Given the description of an element on the screen output the (x, y) to click on. 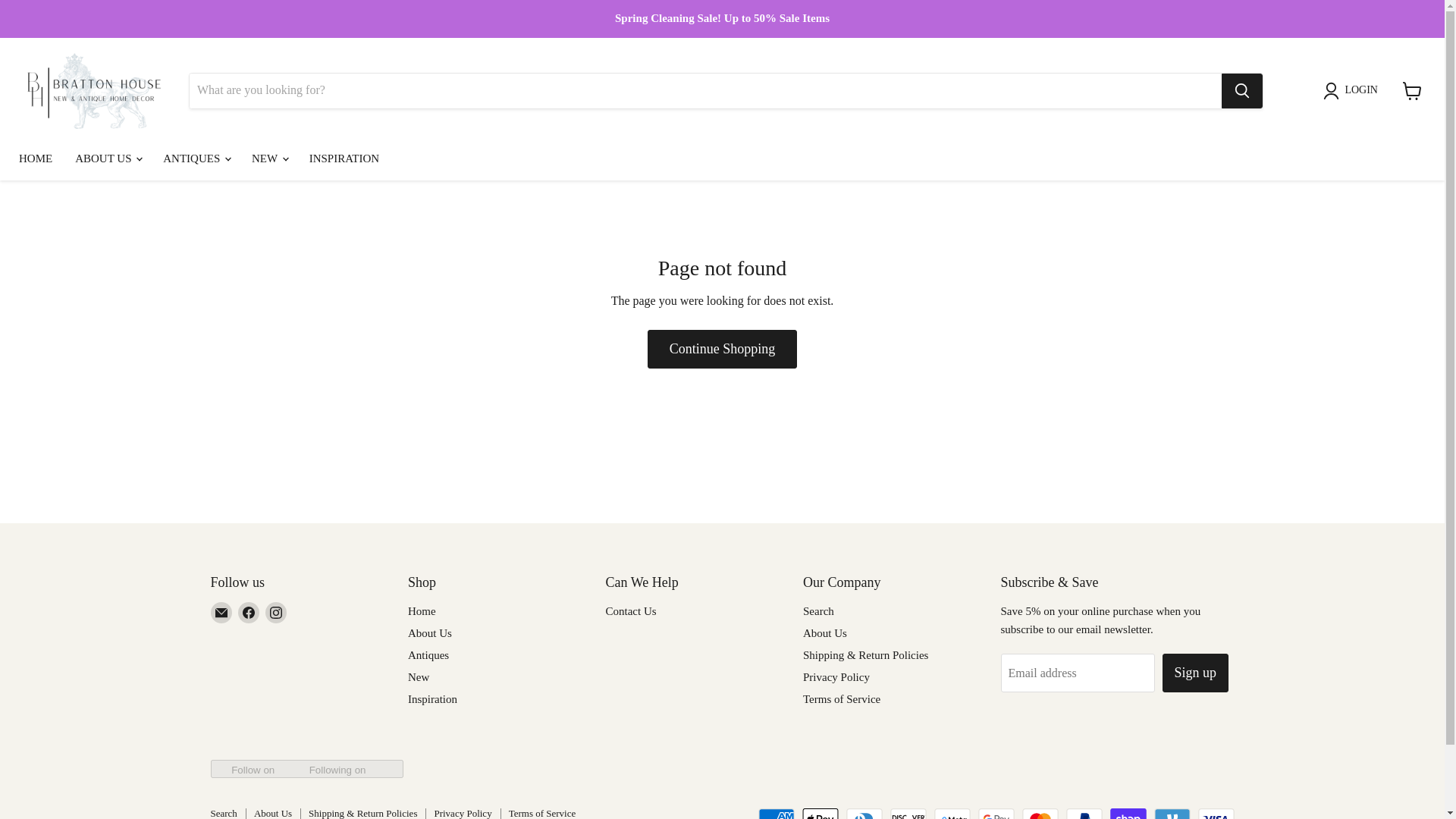
Shop Pay (1128, 813)
Venmo (1172, 813)
Mastercard (1040, 813)
Instagram (275, 612)
Discover (907, 813)
Apple Pay (820, 813)
Email (221, 612)
PayPal (1083, 813)
Diners Club (863, 813)
HOME (35, 158)
